Given the description of an element on the screen output the (x, y) to click on. 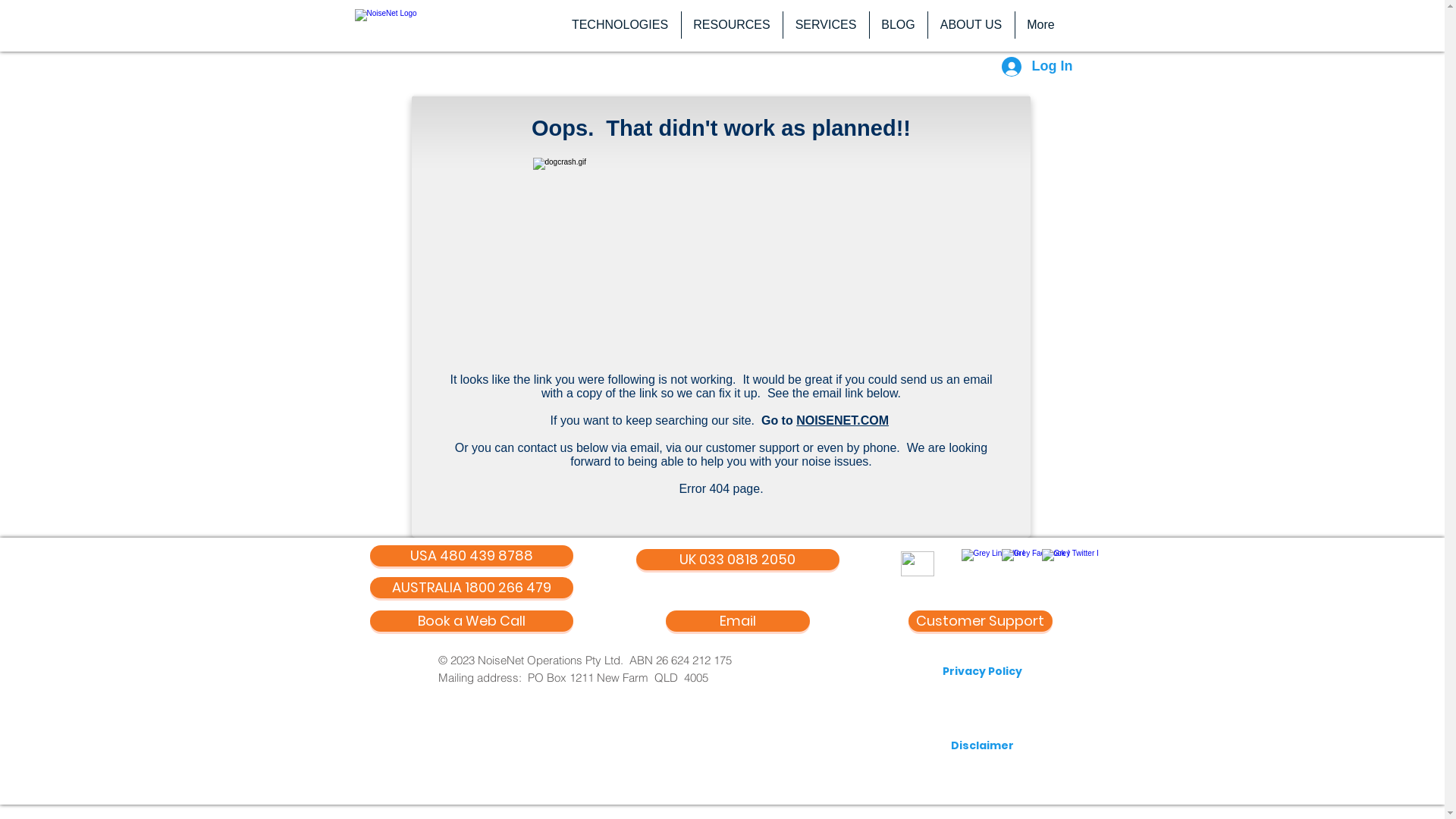
Email Element type: text (737, 620)
Privacy Policy Element type: text (981, 671)
ABOUT US Element type: text (969, 24)
BLOG Element type: text (898, 24)
Disclaimer Element type: text (981, 745)
AUSTRALIA 1800 266 479 Element type: text (471, 587)
USA 480 439 8788 Element type: text (471, 555)
UK 033 0818 2050 Element type: text (736, 559)
Log In Element type: text (1035, 66)
Customer Support Element type: text (980, 620)
Book a Web Call Element type: text (471, 620)
NOISENET.COM Element type: text (842, 420)
